Given the description of an element on the screen output the (x, y) to click on. 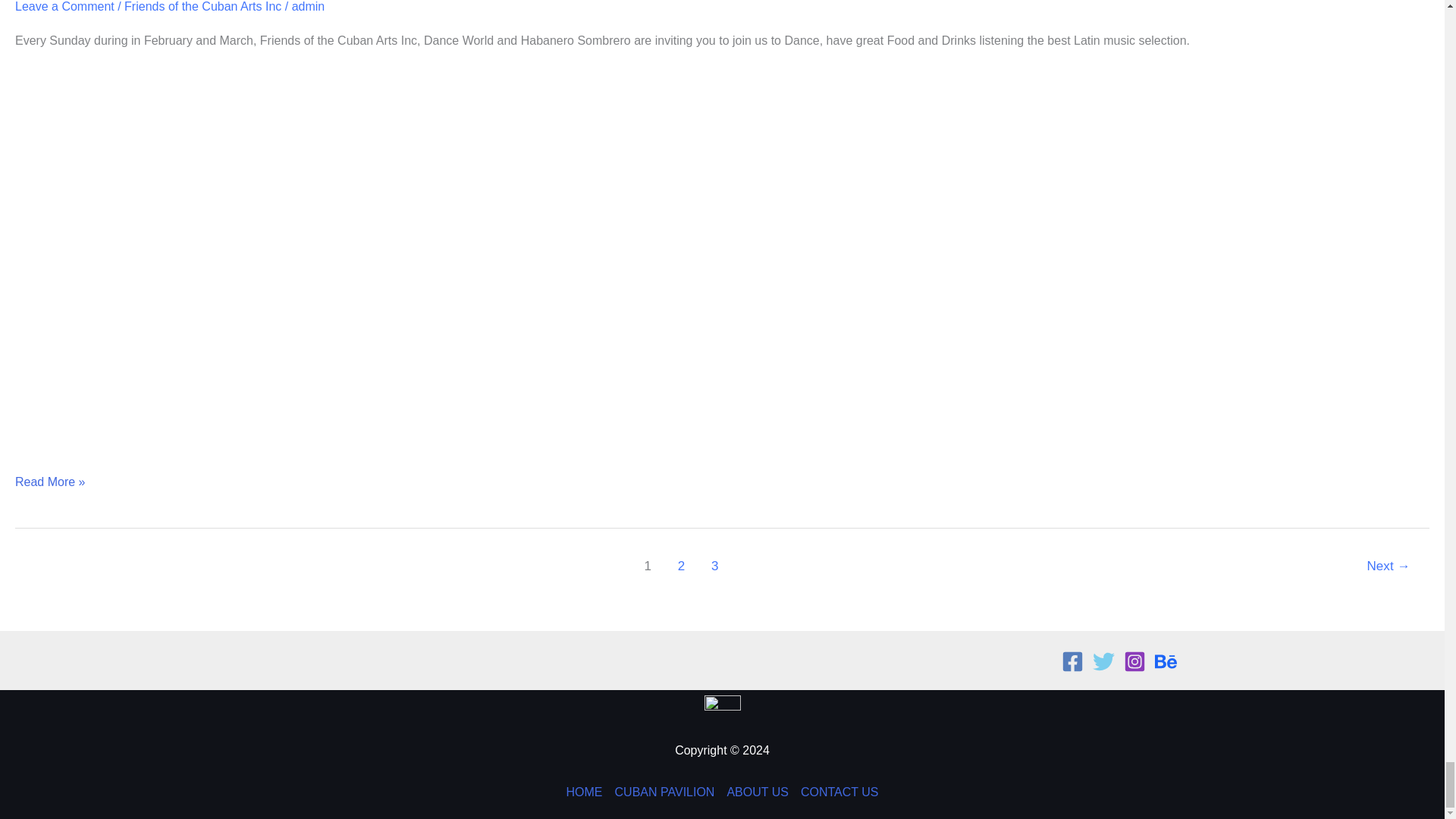
View all posts by admin (308, 6)
